Given the description of an element on the screen output the (x, y) to click on. 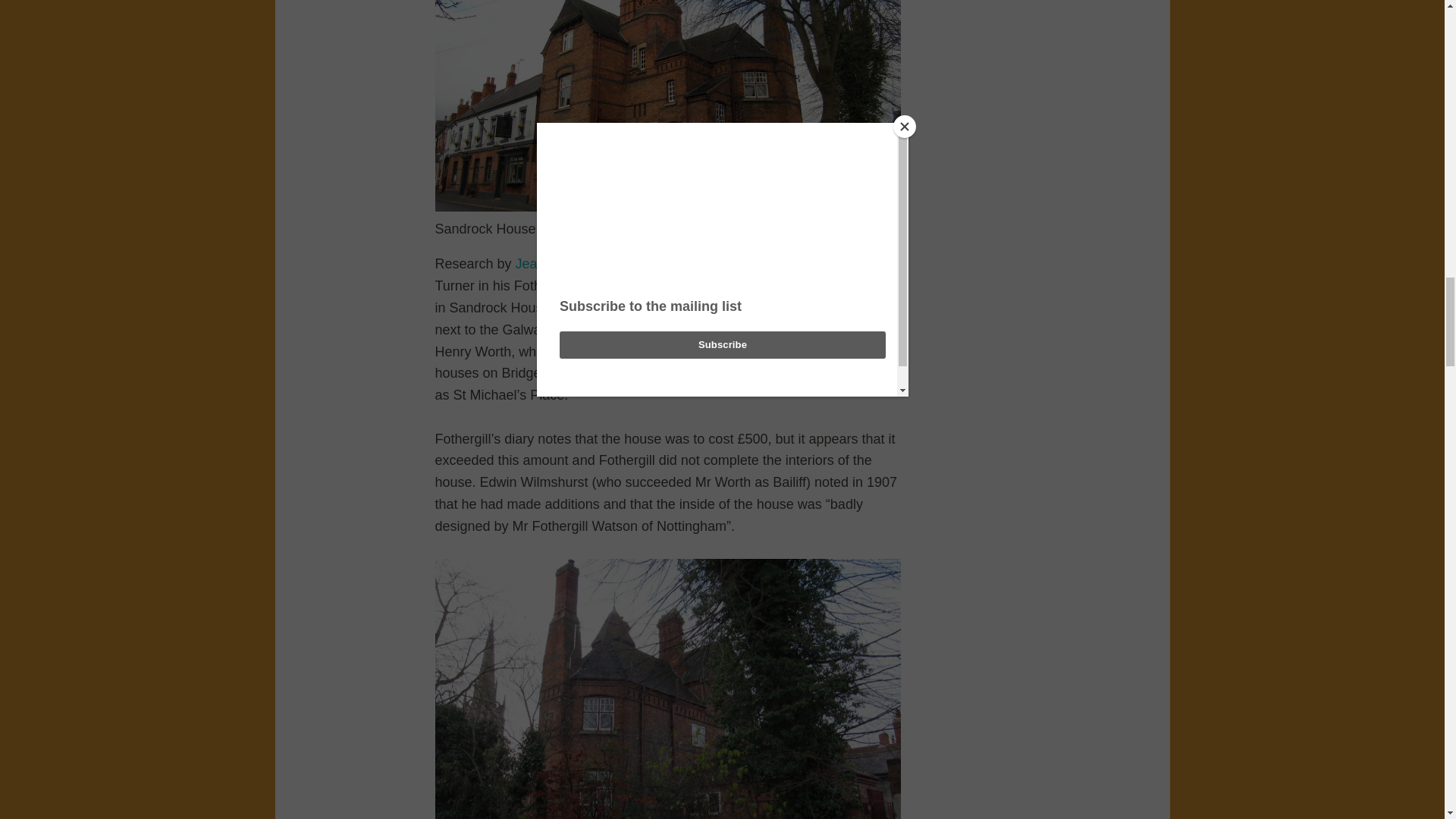
Jean Nicholson for The Thornton Society (638, 263)
